Given the description of an element on the screen output the (x, y) to click on. 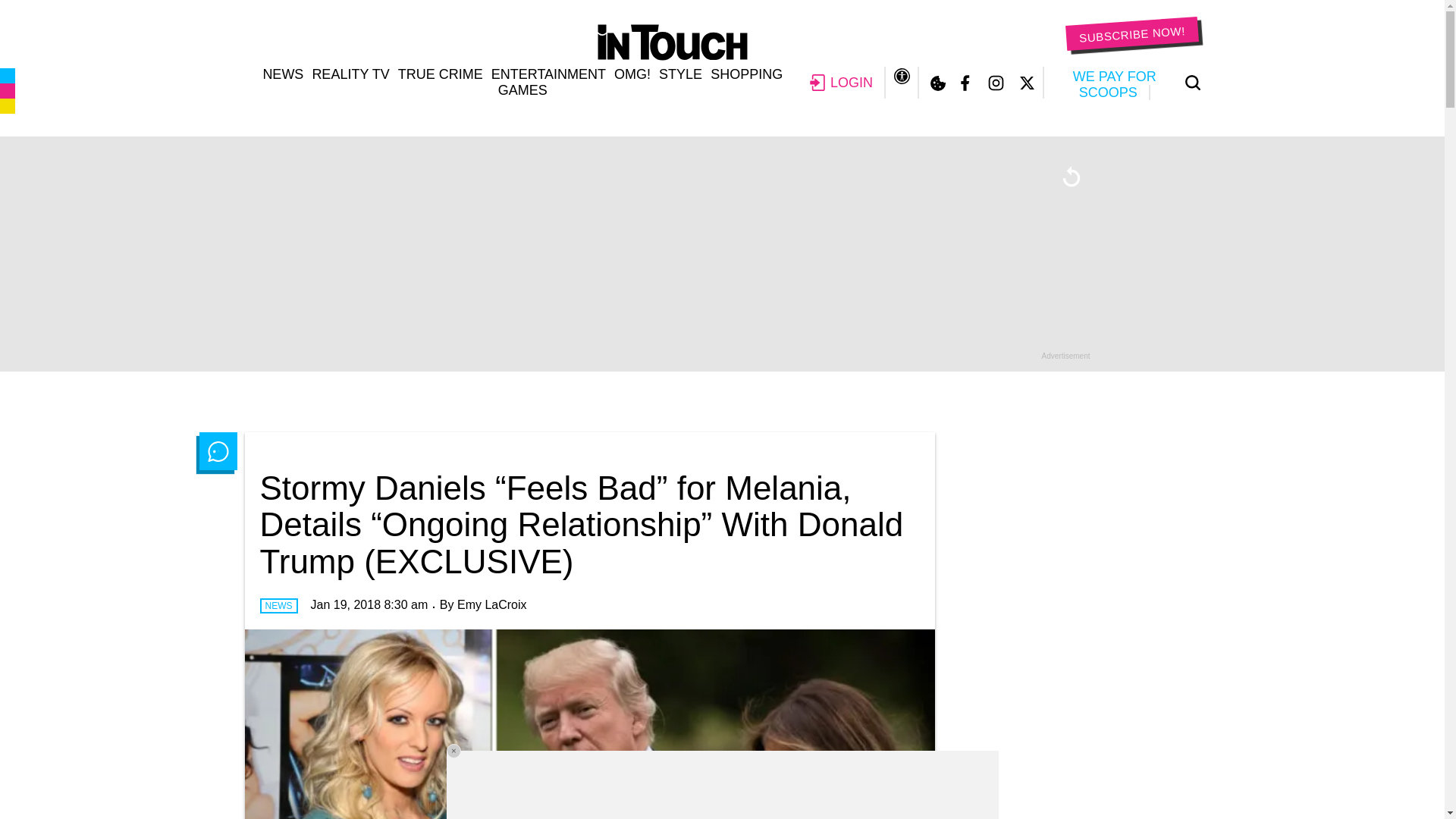
3rd party ad content (721, 785)
3rd party ad content (1074, 739)
Posts by Emy LaCroix (492, 604)
